Given the description of an element on the screen output the (x, y) to click on. 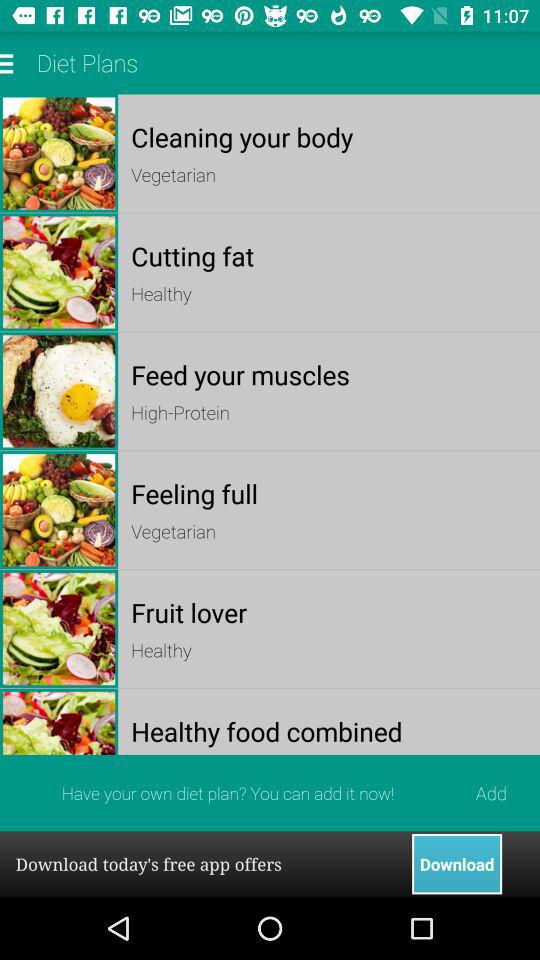
flip until the feeling full item (328, 493)
